Given the description of an element on the screen output the (x, y) to click on. 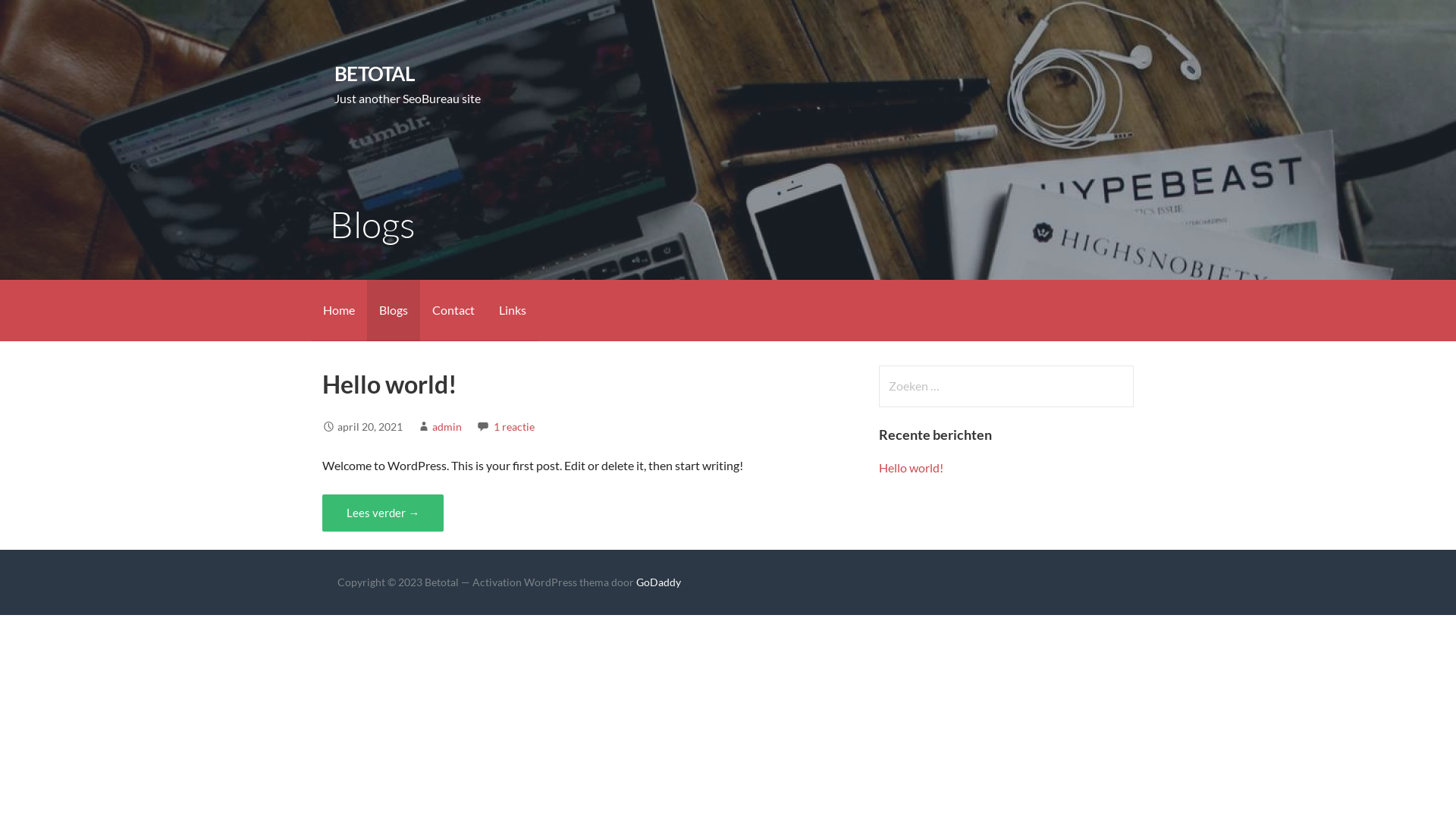
BETOTAL Element type: text (374, 73)
GoDaddy Element type: text (658, 581)
admin Element type: text (446, 426)
1 reactie Element type: text (513, 426)
Links Element type: text (512, 310)
Zoeken Element type: text (42, 18)
Contact Element type: text (453, 310)
Home Element type: text (338, 310)
Blogs Element type: text (393, 310)
Hello world! Element type: text (910, 467)
Hello world! Element type: text (389, 383)
